Given the description of an element on the screen output the (x, y) to click on. 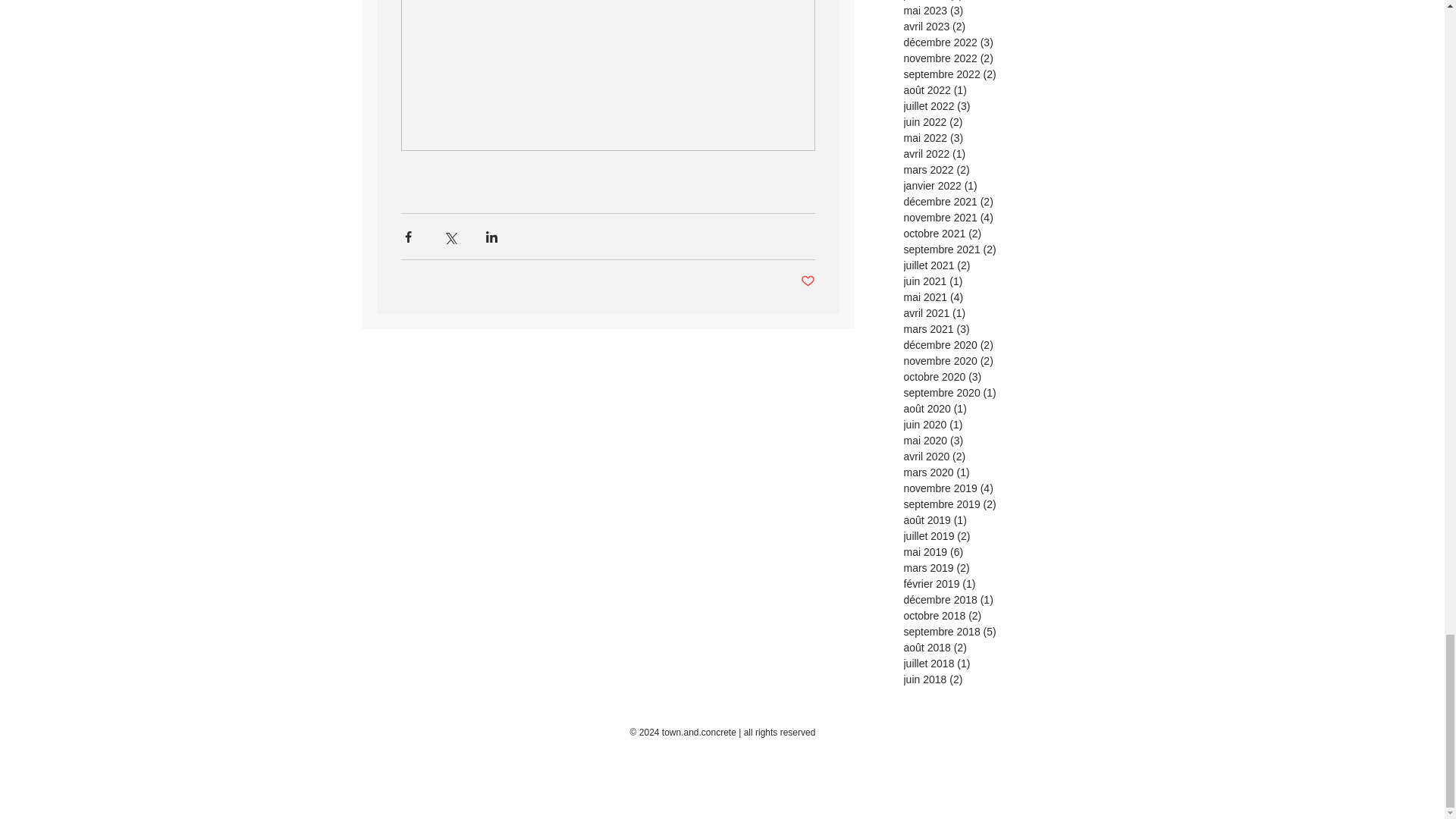
Vous n'aimez plus ce post (807, 281)
